Given the description of an element on the screen output the (x, y) to click on. 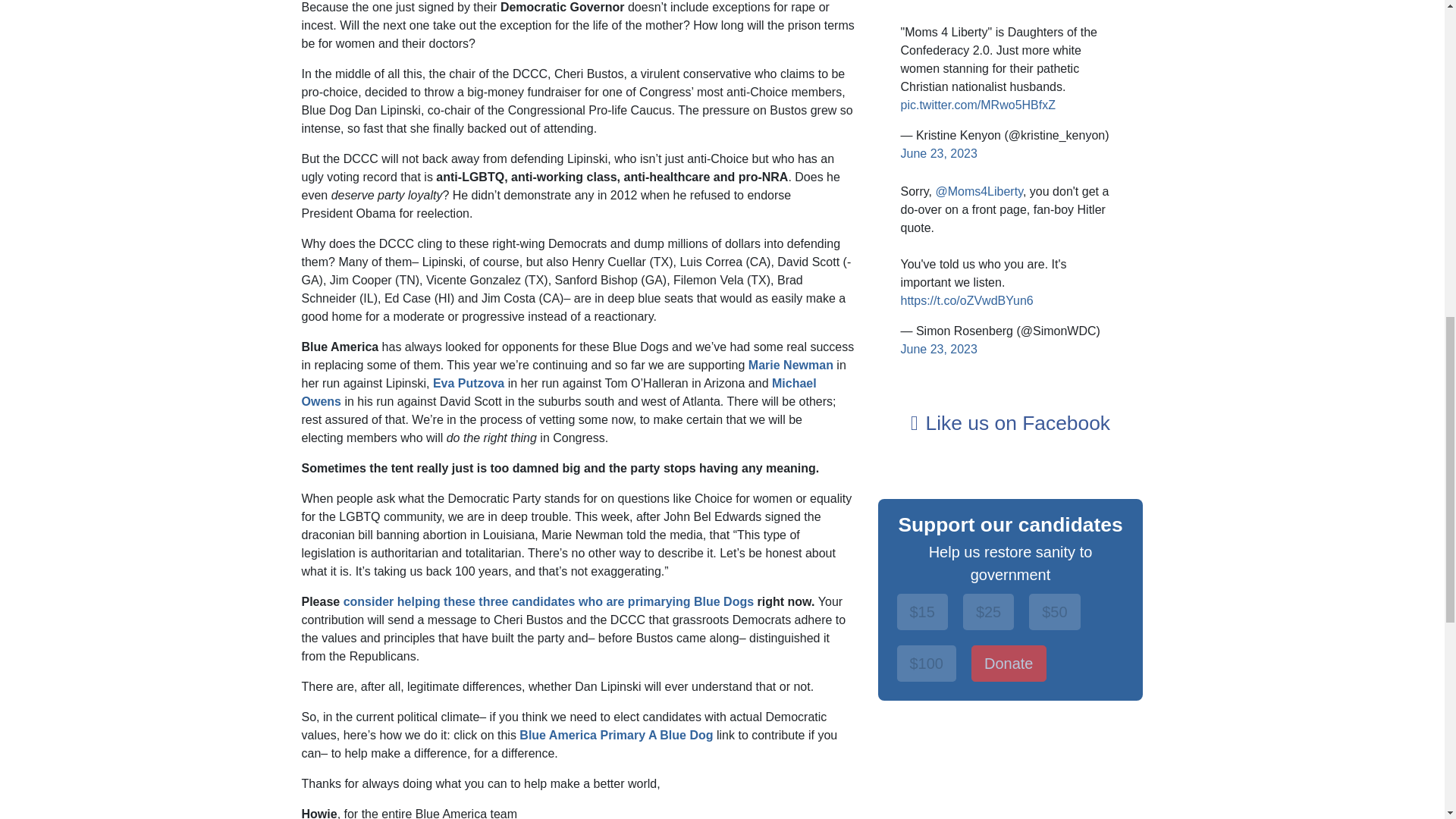
Michael Owens (558, 391)
Blue America Primary A Blue Dog (616, 735)
Marie Newman (790, 364)
Eva Putzova (467, 382)
